Given the description of an element on the screen output the (x, y) to click on. 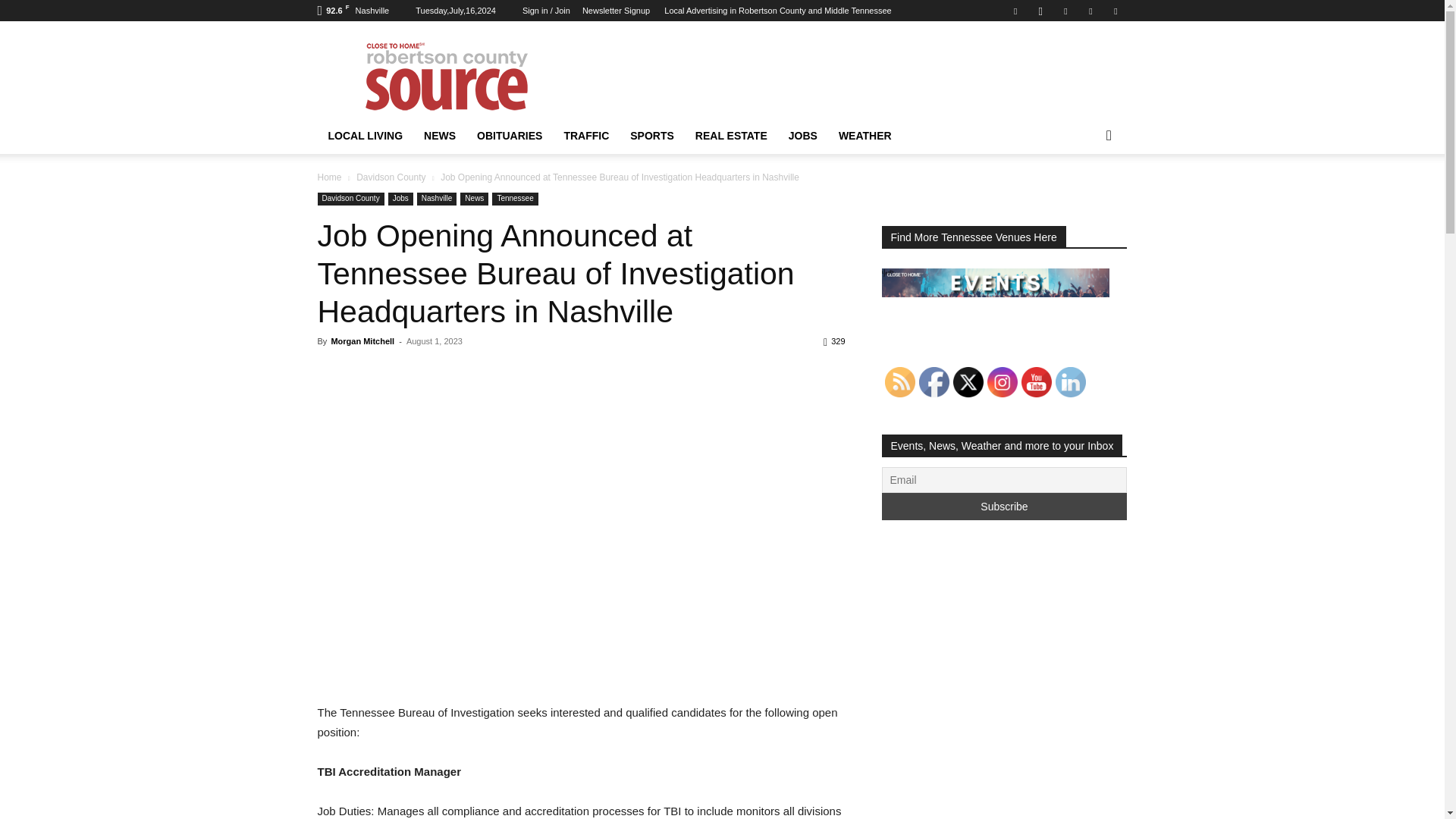
Twitter (1090, 10)
Robertson County Source (445, 76)
Pinterest (1065, 10)
Youtube (1114, 10)
Subscribe (1003, 506)
Instagram (1040, 10)
Facebook (1015, 10)
